Given the description of an element on the screen output the (x, y) to click on. 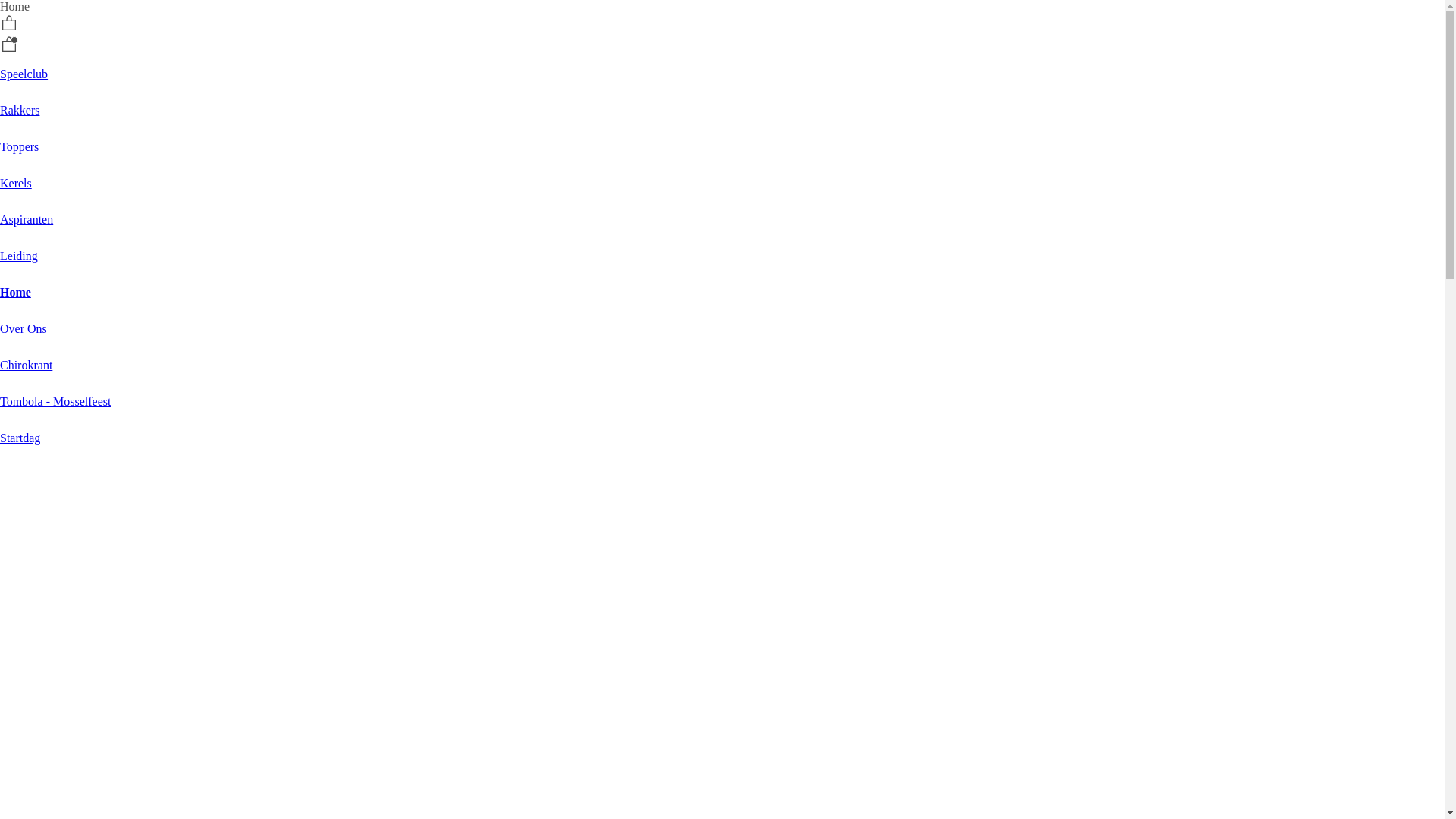
Tombola - Mosselfeest Element type: text (55, 401)
Home Element type: text (15, 291)
Kerels Element type: text (15, 182)
Rakkers Element type: text (19, 109)
Chirokrant Element type: text (26, 364)
Toppers Element type: text (19, 146)
Leiding Element type: text (18, 255)
Aspiranten Element type: text (26, 219)
Startdag Element type: text (20, 437)
Speelclub Element type: text (23, 73)
Over Ons Element type: text (23, 328)
